Given the description of an element on the screen output the (x, y) to click on. 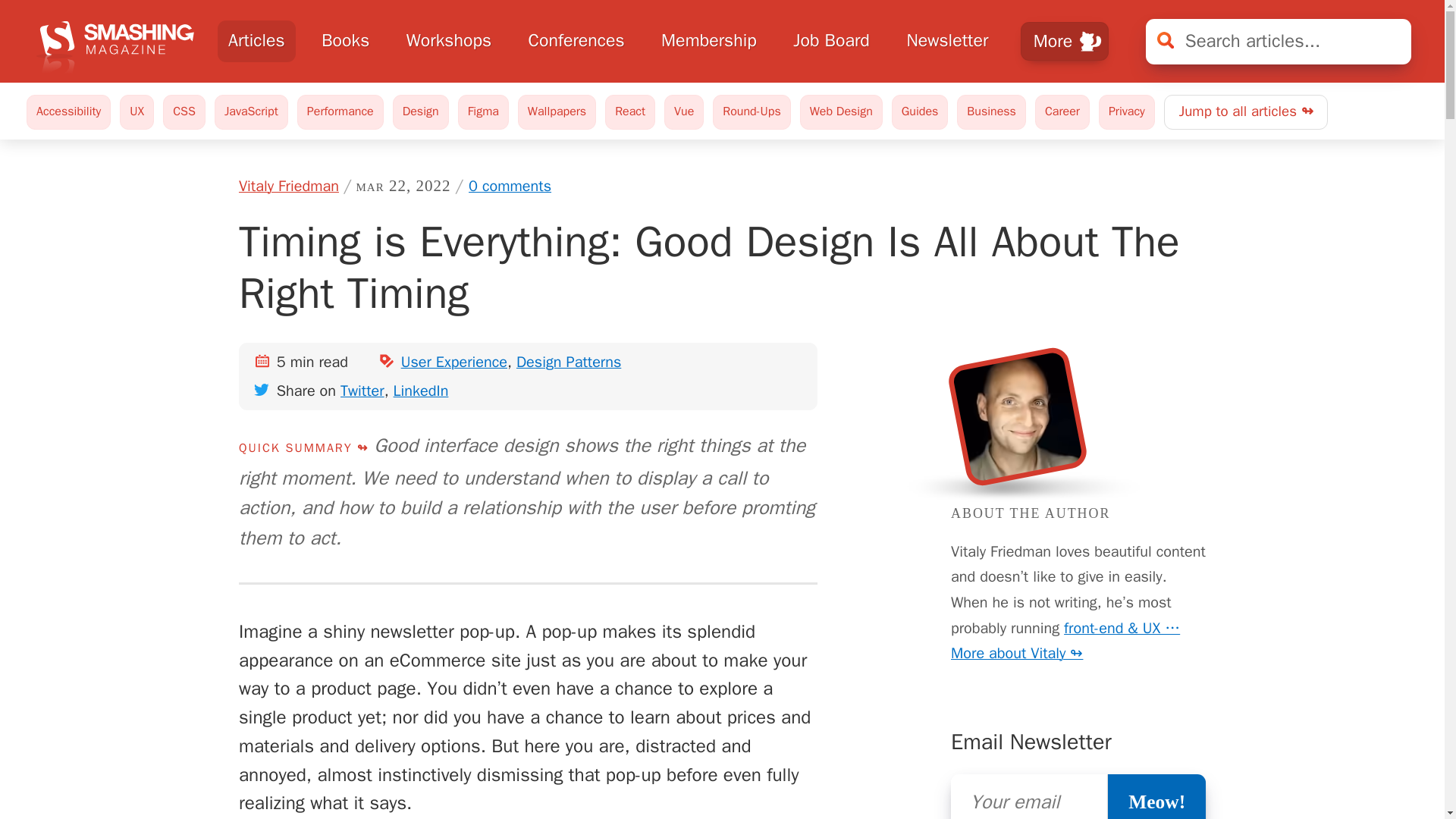
Workshops (448, 41)
Conferences (575, 41)
UX (136, 111)
Books (345, 41)
Figma (483, 111)
Round-Ups (751, 111)
Design (420, 111)
Web Design (840, 111)
React (630, 111)
CSS (184, 111)
